Given the description of an element on the screen output the (x, y) to click on. 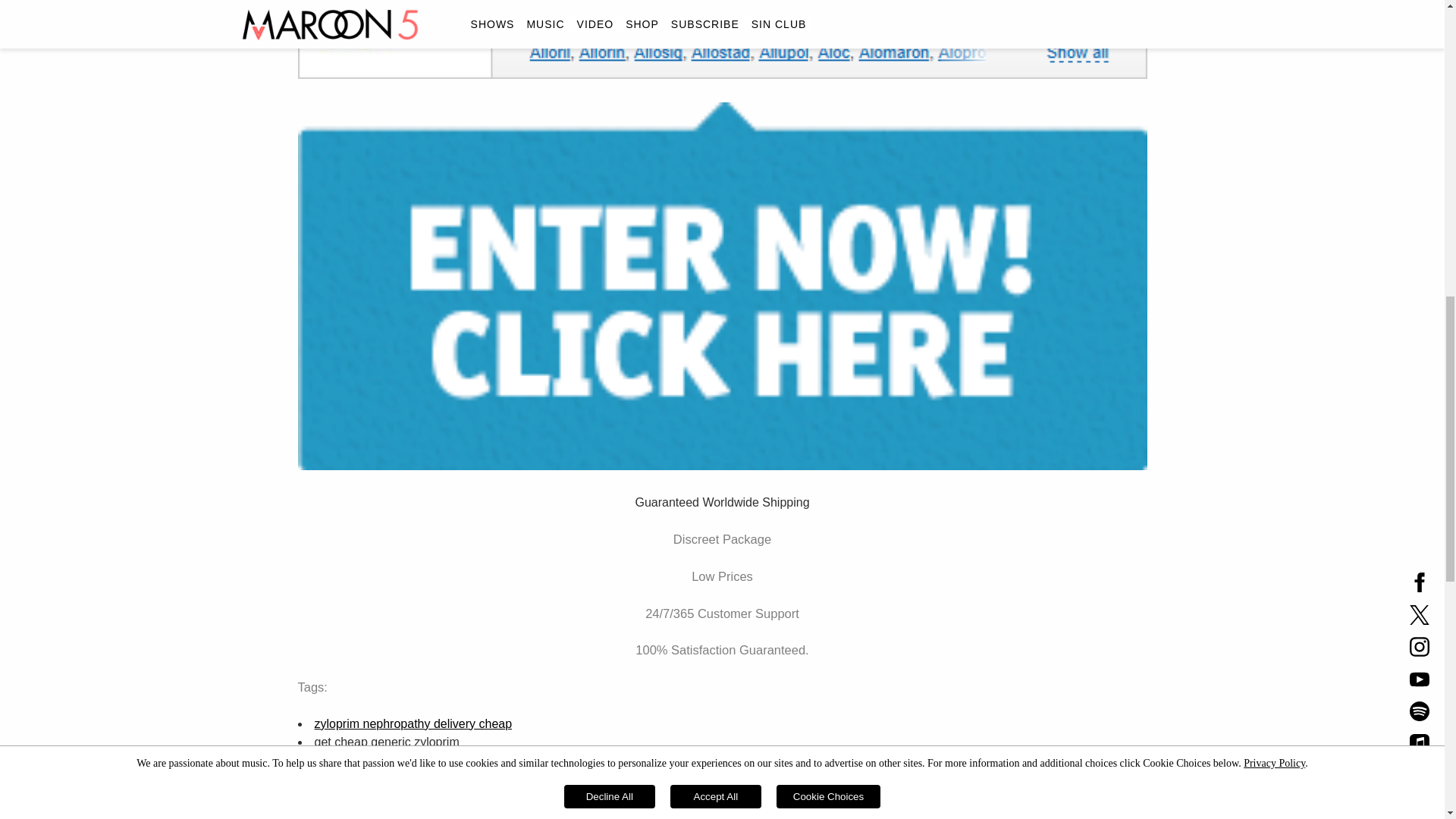
zyloprim nephropathy delivery cheap (413, 723)
